Given the description of an element on the screen output the (x, y) to click on. 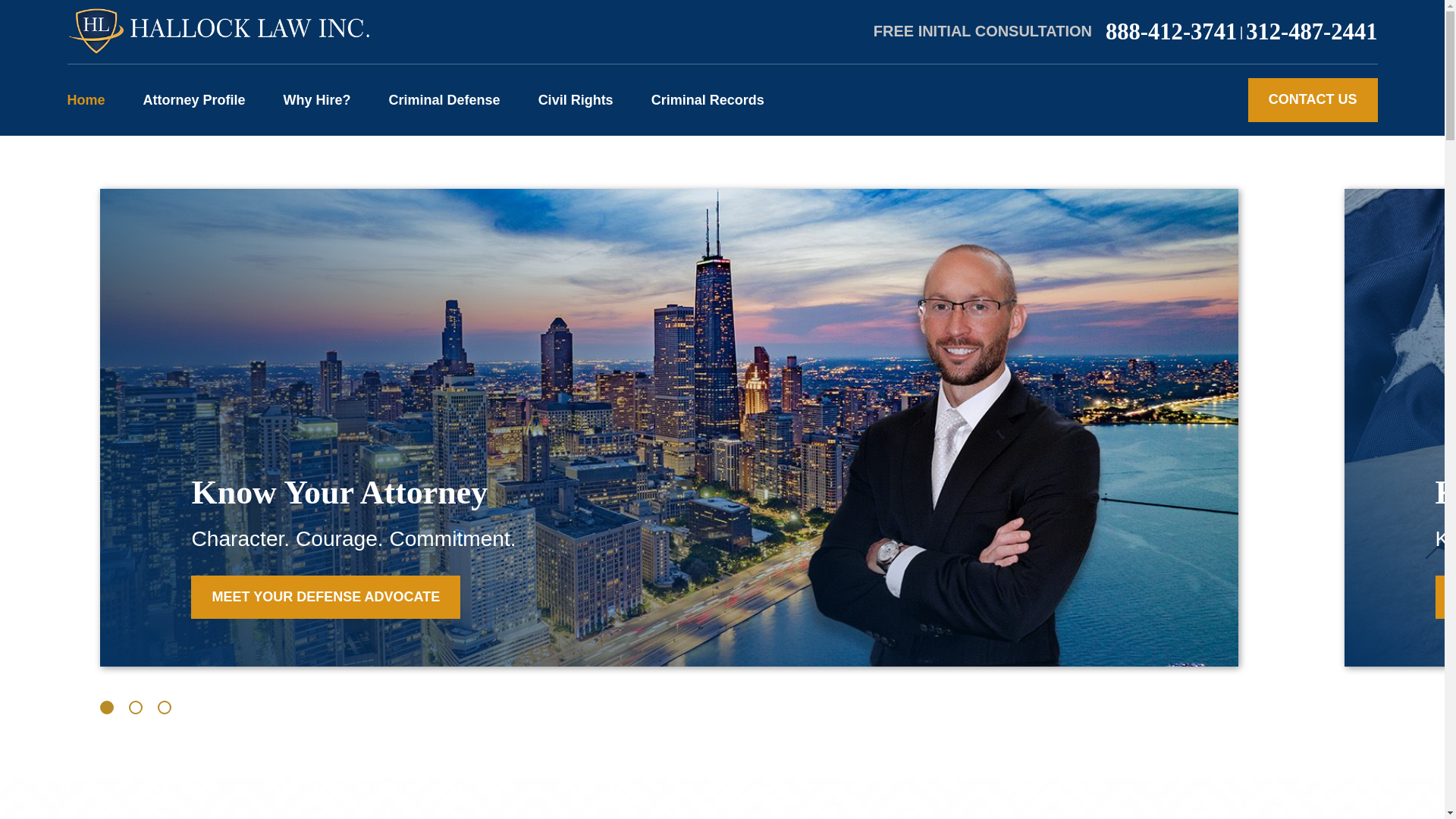
Why Hire? (316, 99)
Criminal Defense (444, 99)
View Item 3 (164, 707)
View Item 2 (135, 707)
Attorney Profile (194, 99)
View Item 1 (106, 707)
888-412-3741 (1170, 32)
312-487-2441 (1311, 32)
Home (217, 32)
